Given the description of an element on the screen output the (x, y) to click on. 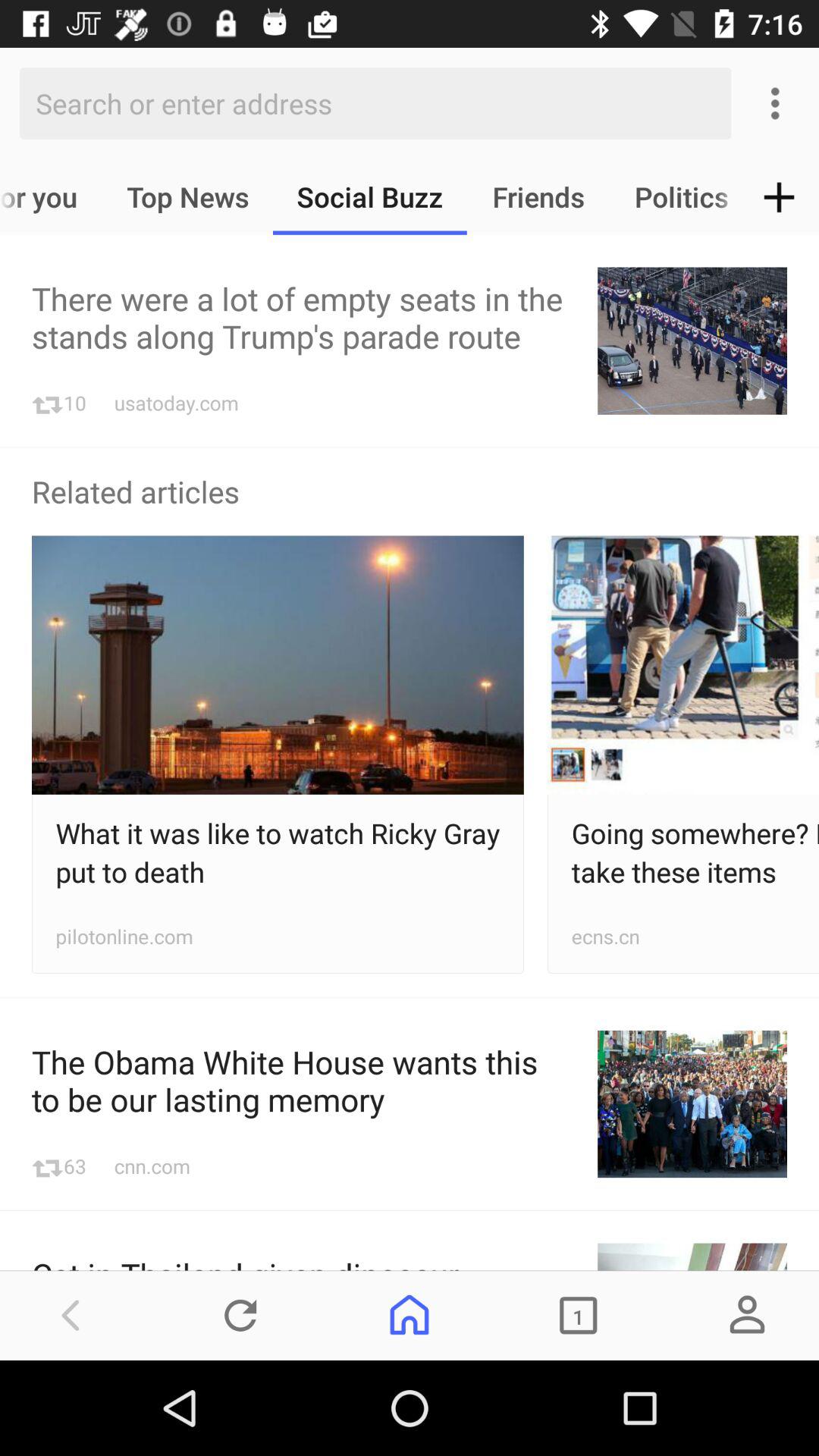
turn on icon next to the politics (779, 196)
